Given the description of an element on the screen output the (x, y) to click on. 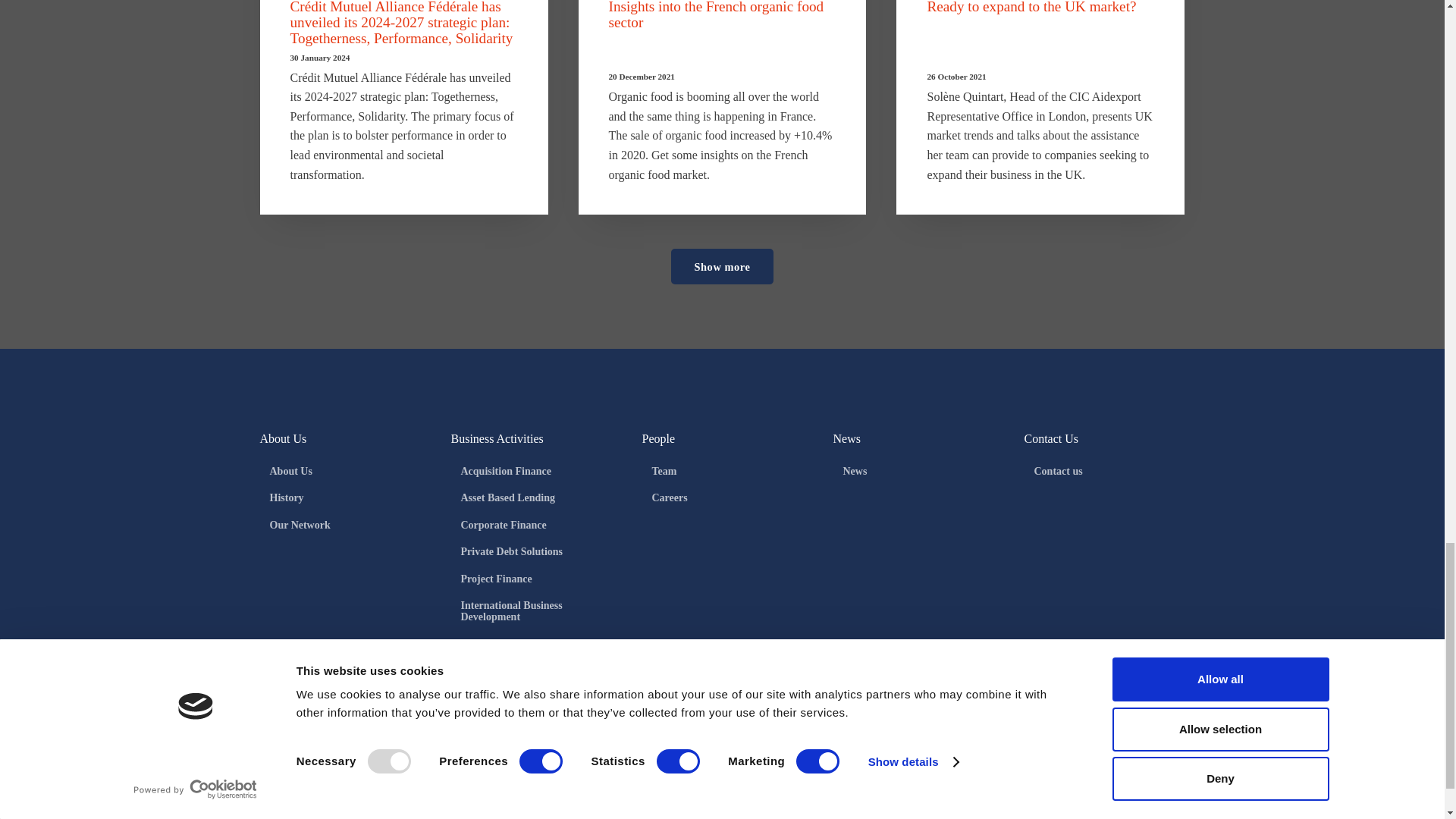
Insights into the French organic food sector  (716, 15)
Linked In (278, 679)
Ready to expand to the UK market? (1030, 7)
YouTube (323, 679)
